Given the description of an element on the screen output the (x, y) to click on. 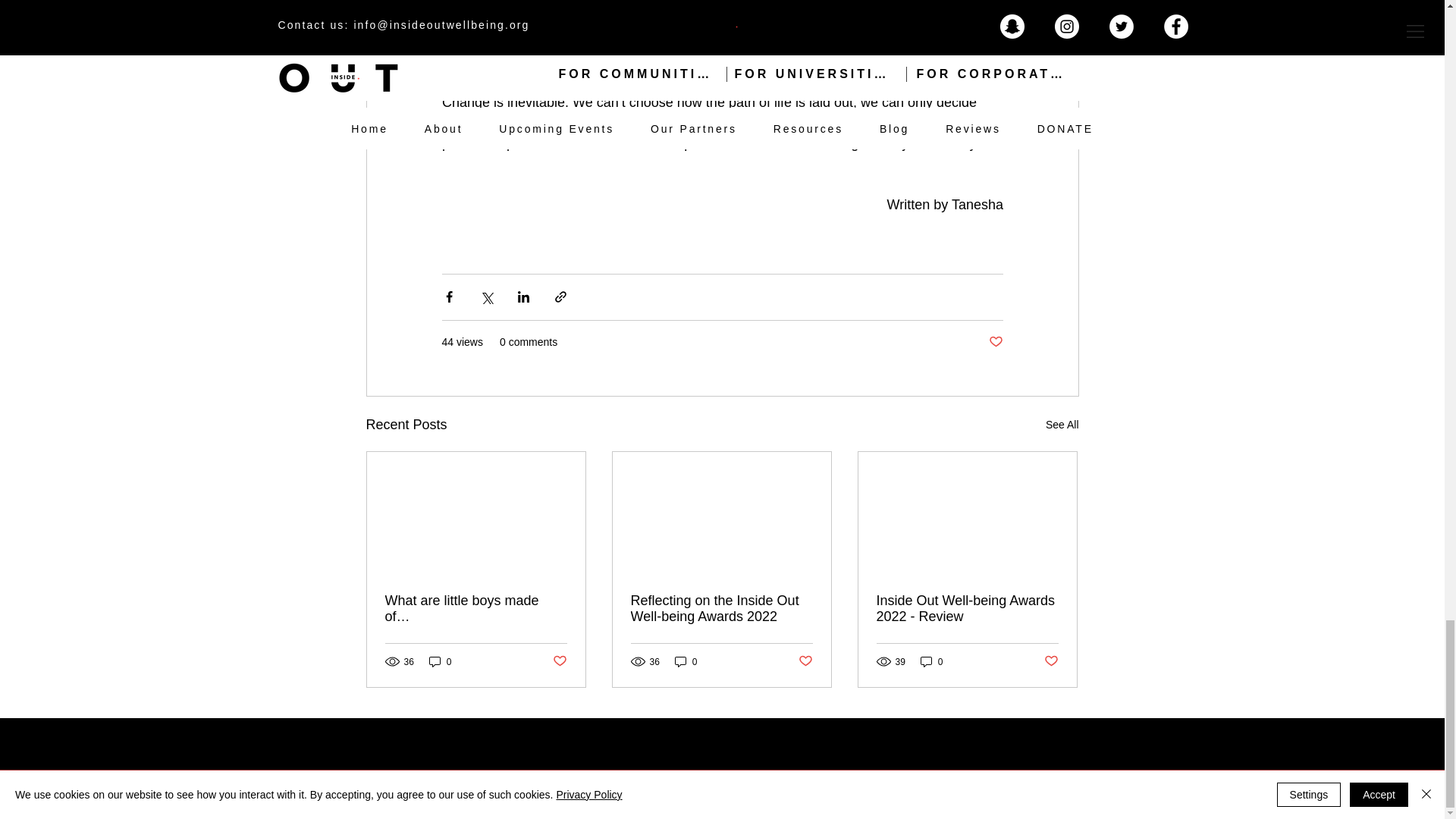
0 (440, 661)
Post not marked as liked (995, 342)
See All (1061, 424)
Reflecting on the Inside Out Well-being Awards 2022 (721, 608)
0 (685, 661)
Post not marked as liked (558, 661)
